Given the description of an element on the screen output the (x, y) to click on. 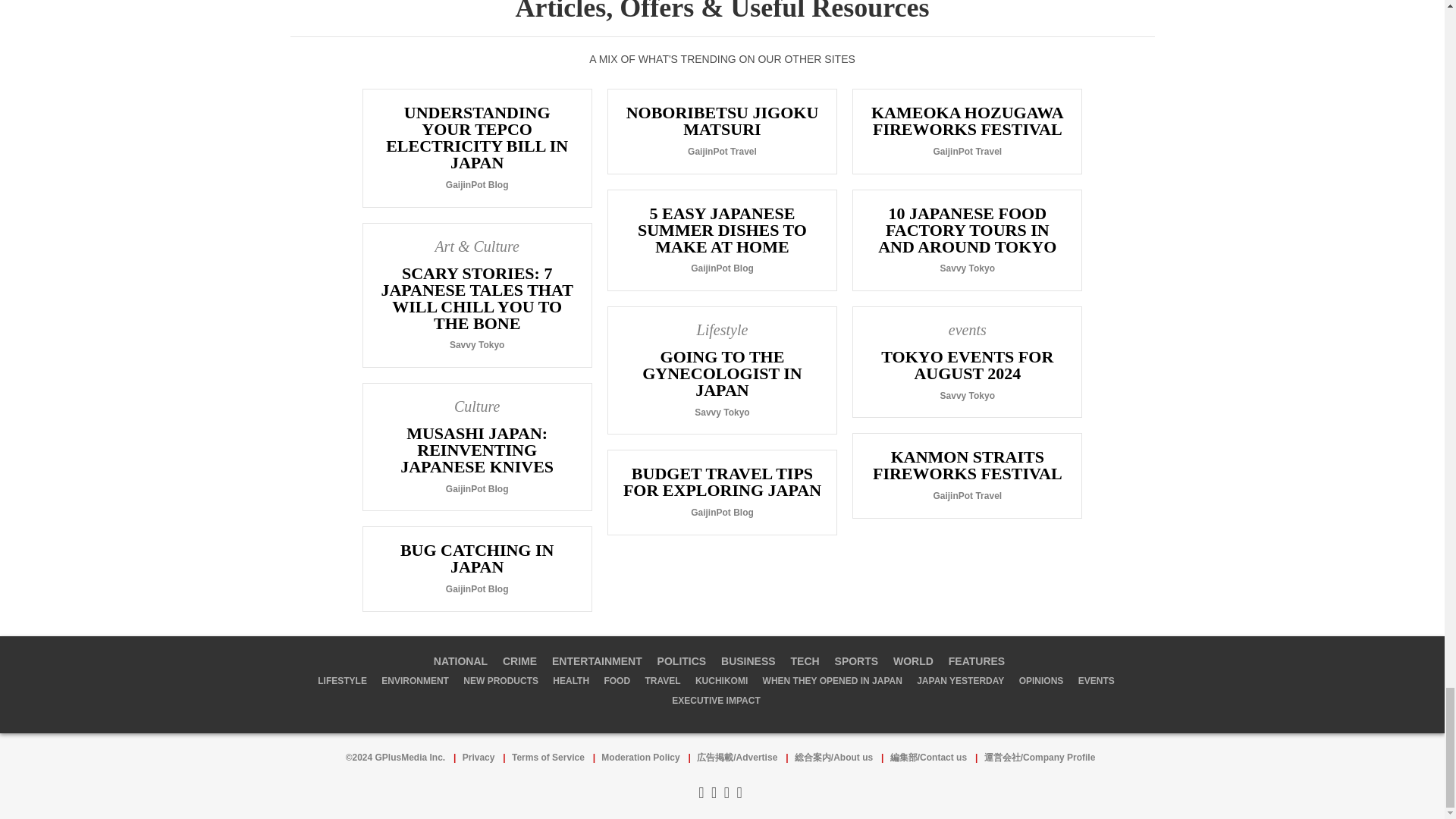
Noboribetsu Jigoku Matsuri (721, 130)
Understanding Your TEPCO Electricity Bill in Japan (476, 147)
Kameoka Hozugawa Fireworks Festival (967, 130)
